Given the description of an element on the screen output the (x, y) to click on. 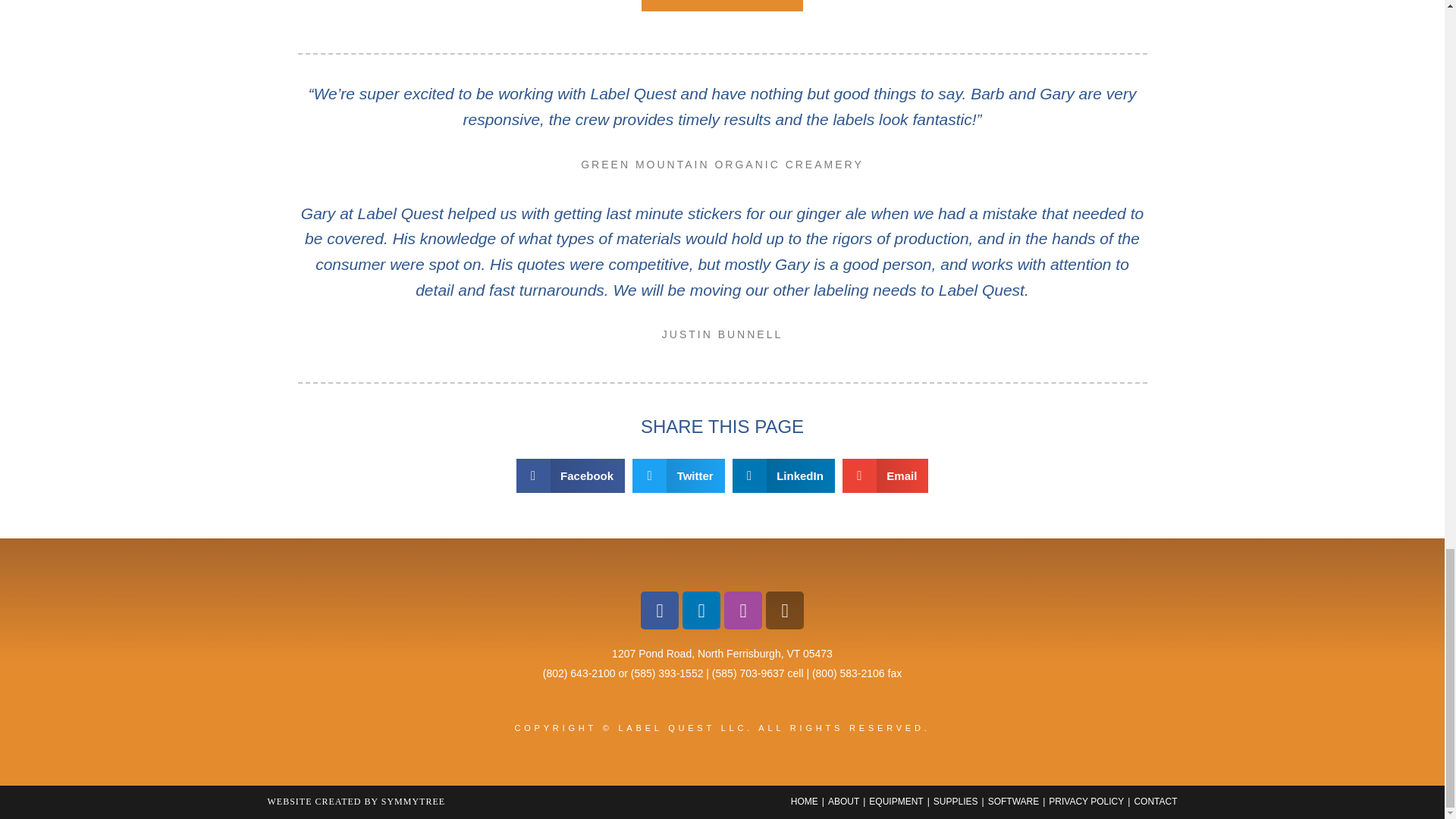
SYMMYTREE (413, 801)
SUPPLIES (955, 801)
CONTACT (1155, 801)
EQUIPMENT (896, 801)
PRIVACY POLICY (1086, 801)
REQUEST A QUOTE (722, 5)
ABOUT (843, 801)
HOME (804, 801)
SOFTWARE (1013, 801)
